Given the description of an element on the screen output the (x, y) to click on. 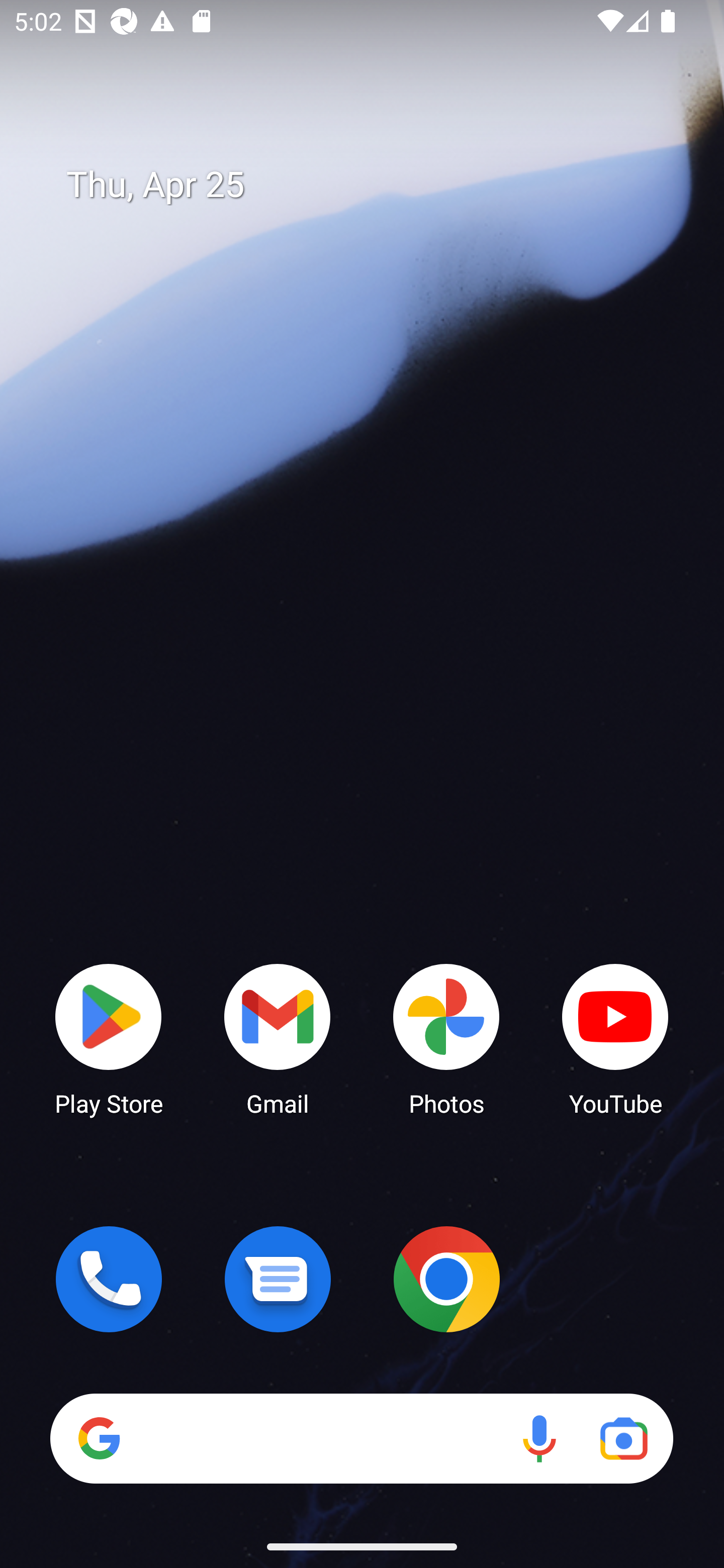
Thu, Apr 25 (375, 184)
Play Store (108, 1038)
Gmail (277, 1038)
Photos (445, 1038)
YouTube (615, 1038)
Phone (108, 1279)
Messages (277, 1279)
Chrome (446, 1279)
Search Voice search Google Lens (361, 1438)
Voice search (539, 1438)
Google Lens (623, 1438)
